Given the description of an element on the screen output the (x, y) to click on. 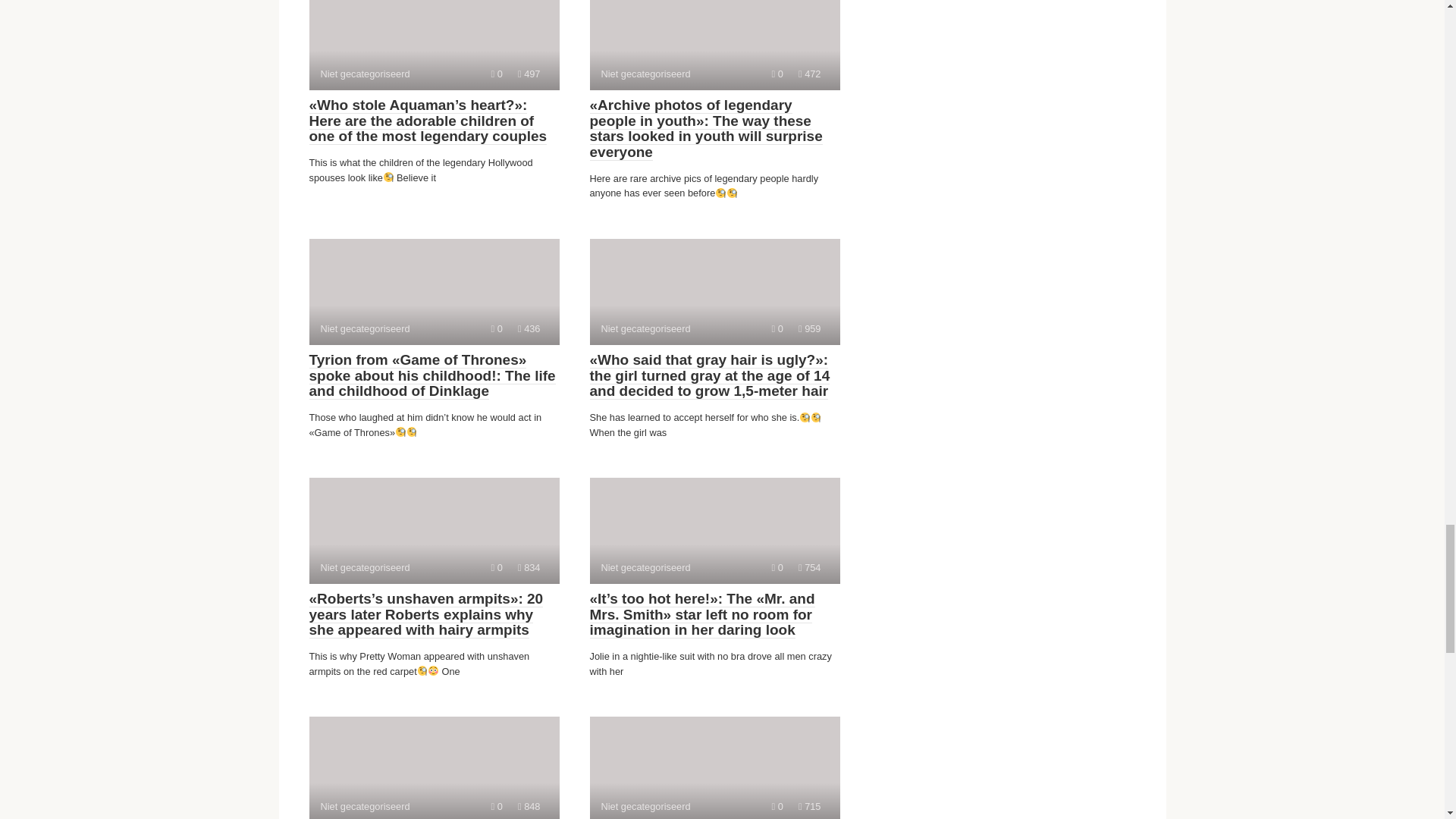
Comments (433, 767)
Comments (433, 45)
Views (714, 45)
Views (714, 291)
Comments (497, 73)
